Given the description of an element on the screen output the (x, y) to click on. 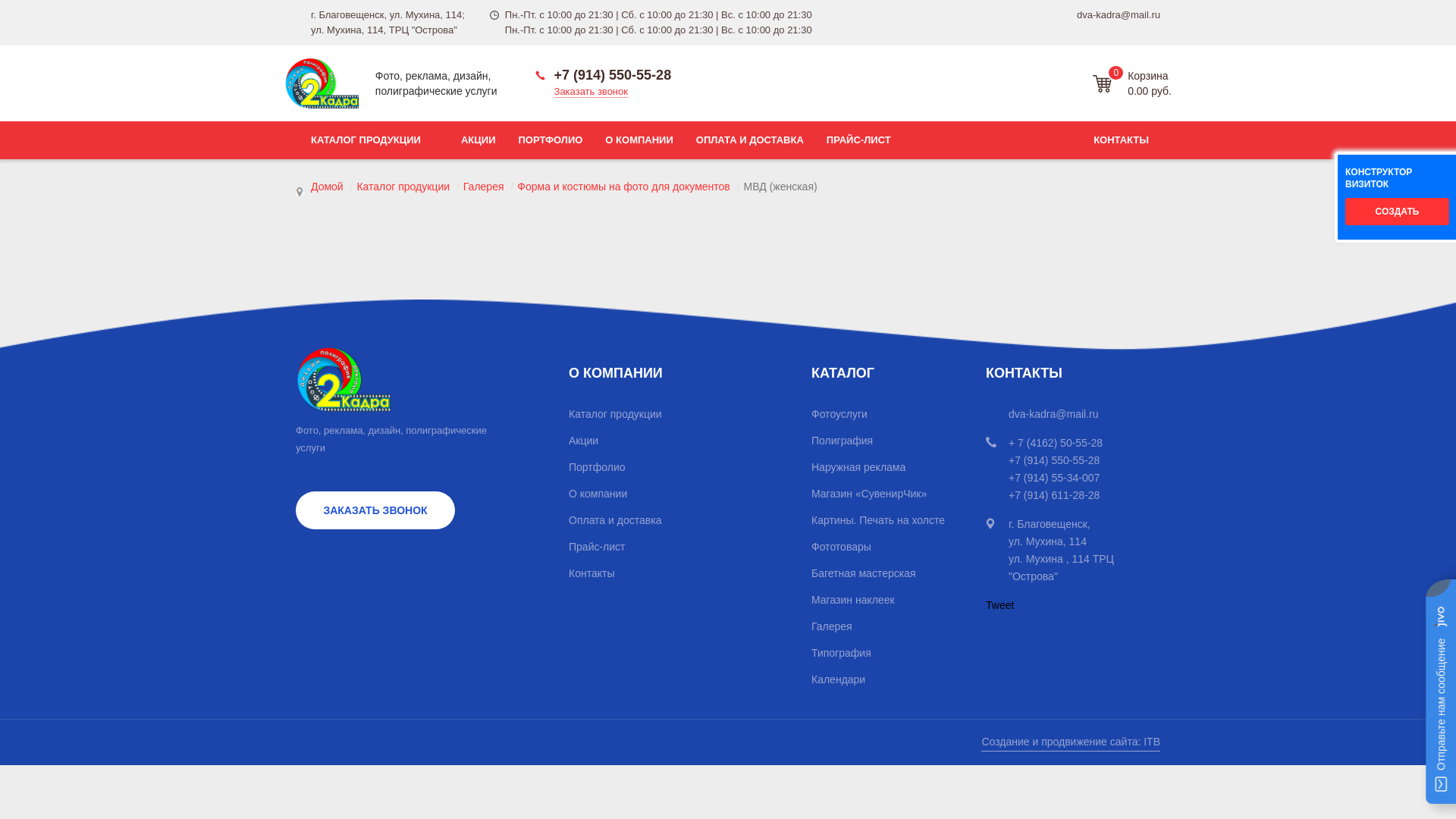
+7 (914) 550-55-28 Element type: text (603, 74)
Tweet Element type: text (999, 605)
dva-kadra@mail.ru Element type: text (1118, 14)
dva-kadra@mail.ru Element type: text (1053, 413)
